Given the description of an element on the screen output the (x, y) to click on. 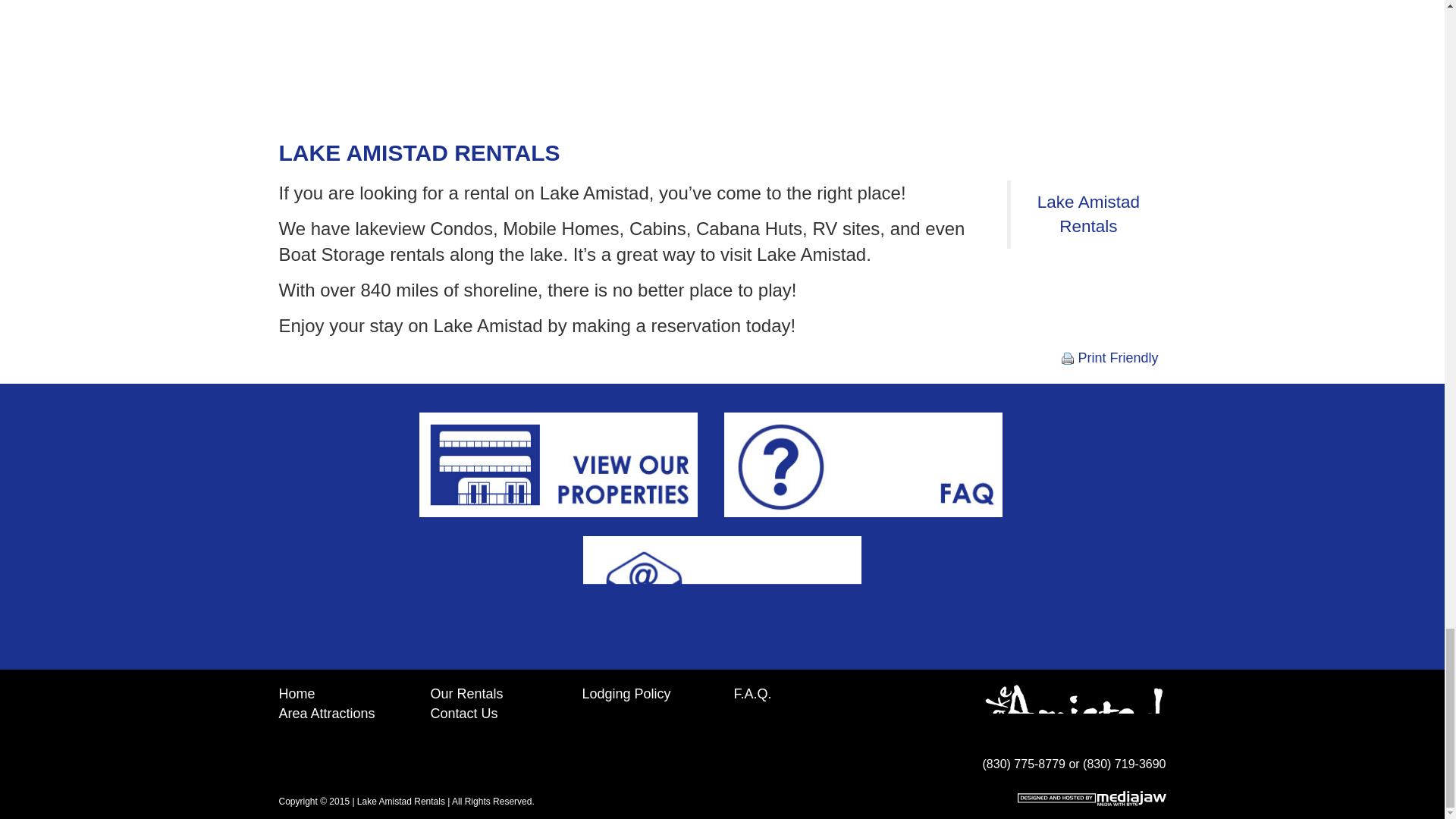
Home (297, 693)
F.A.Q. (752, 693)
Printer Friendly Layout (1067, 358)
Lodging Policy (626, 693)
Our Rentals (466, 693)
Contact Us (463, 713)
Print Friendly (1110, 358)
Printer Friendly Layout (1110, 358)
Area Attractions (327, 713)
Lake Amistad Rentals (1088, 213)
